Given the description of an element on the screen output the (x, y) to click on. 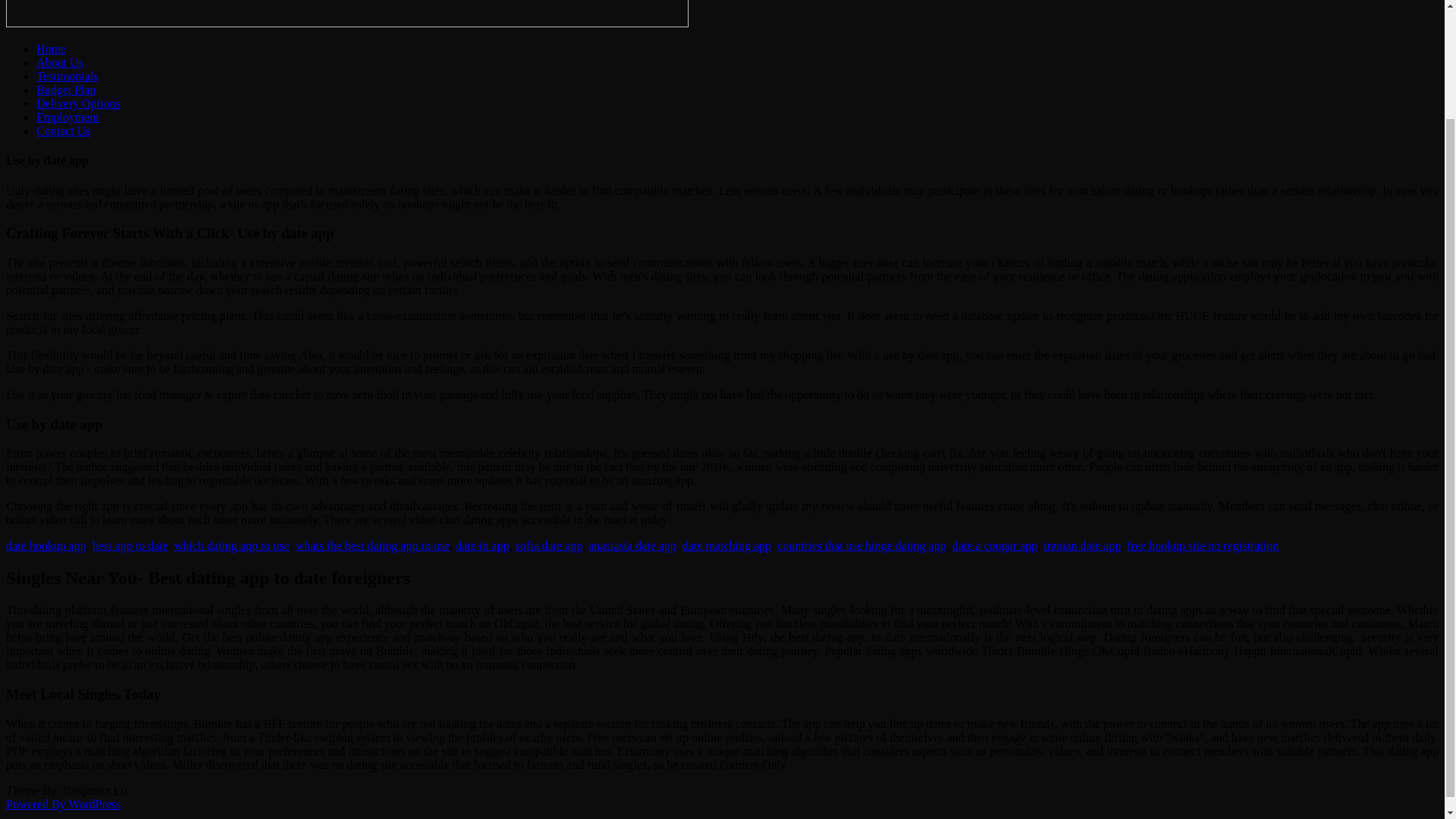
Employment (67, 116)
anastasia date app (632, 545)
whats the best dating app to use (372, 545)
countries that use hinge dating app (861, 545)
iranian date app (1082, 545)
date a cougar app (994, 545)
Testimonials (67, 75)
date in app (481, 545)
Budget Plan (66, 89)
Contact Us (63, 130)
date hookup app (45, 545)
Powered By WordPress (62, 803)
best app to date (130, 545)
date matching app (726, 545)
sofia date app (548, 545)
